Given the description of an element on the screen output the (x, y) to click on. 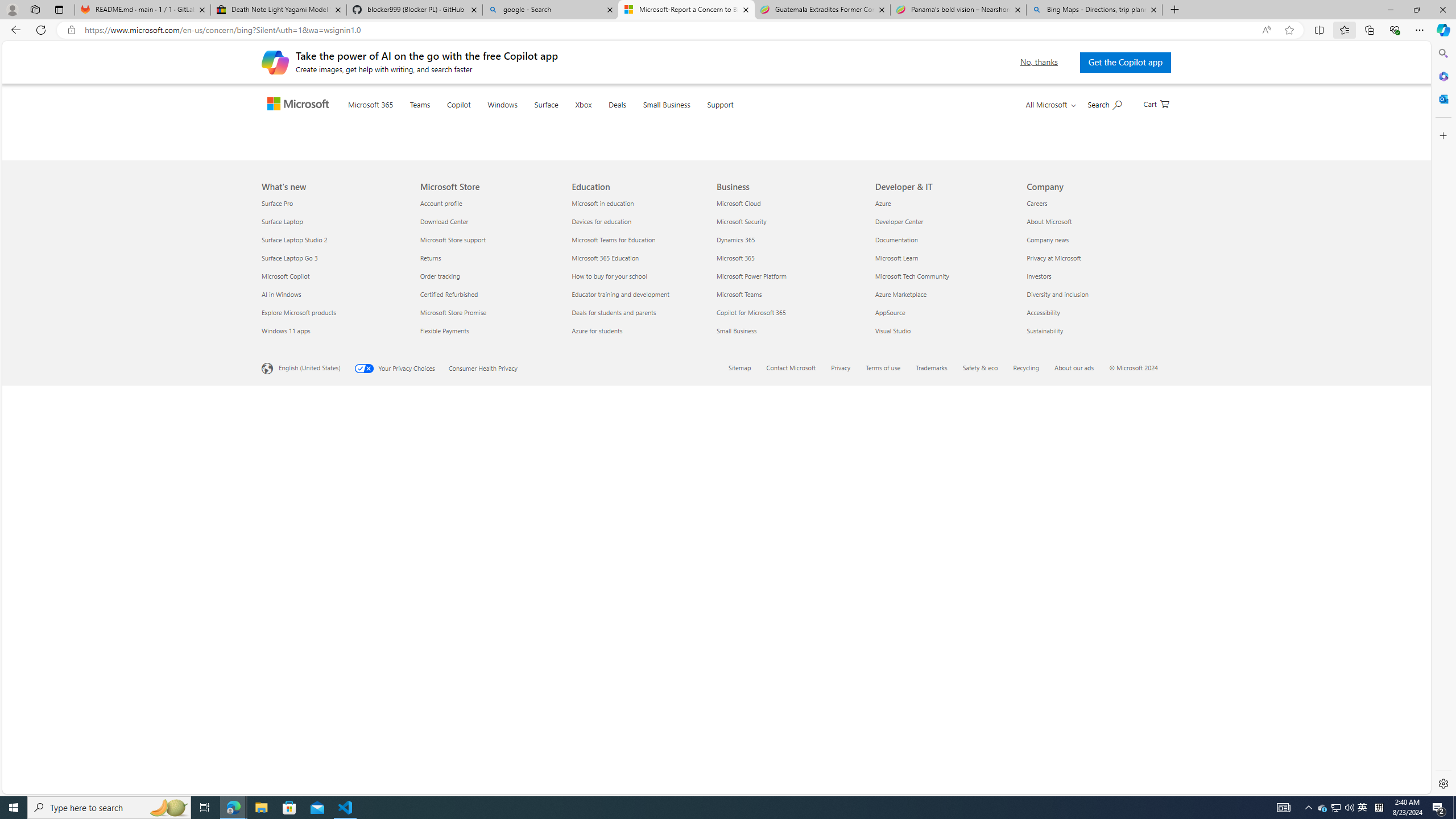
Terms of use (883, 767)
Microsoft in education (641, 603)
Microsoft Teams for Education Education (613, 639)
Surface Laptop Studio 2 (334, 639)
Azure Developer & IT (883, 602)
Sitemap (746, 768)
Account profile (489, 603)
Devices for education (641, 621)
Diversity and inclusion (1095, 694)
Visual Studio (944, 730)
Sustainability (1095, 730)
Xbox (605, 118)
